Given the description of an element on the screen output the (x, y) to click on. 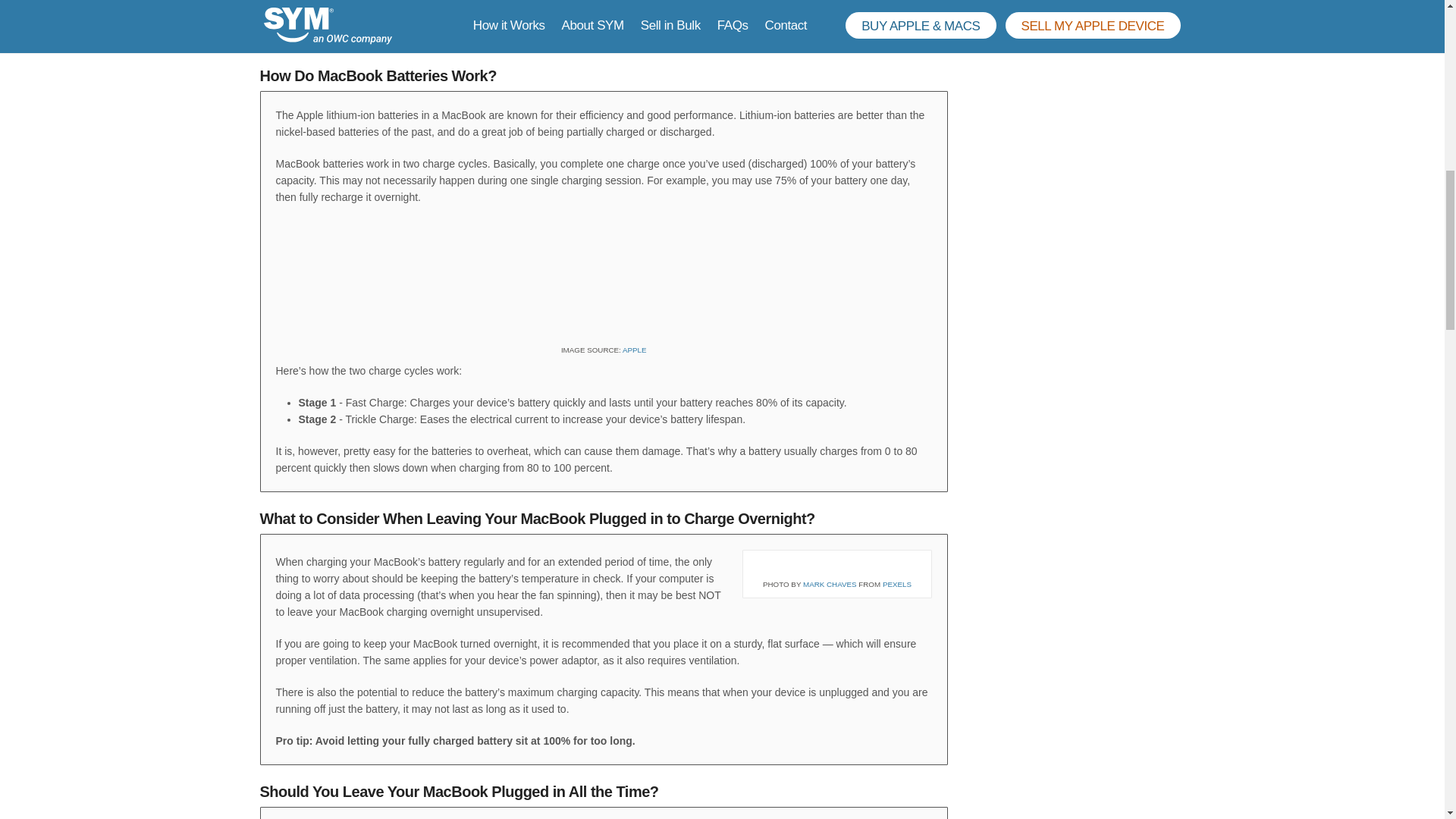
MARK CHAVES (830, 583)
PEXELS (896, 583)
APPLE (634, 349)
